Given the description of an element on the screen output the (x, y) to click on. 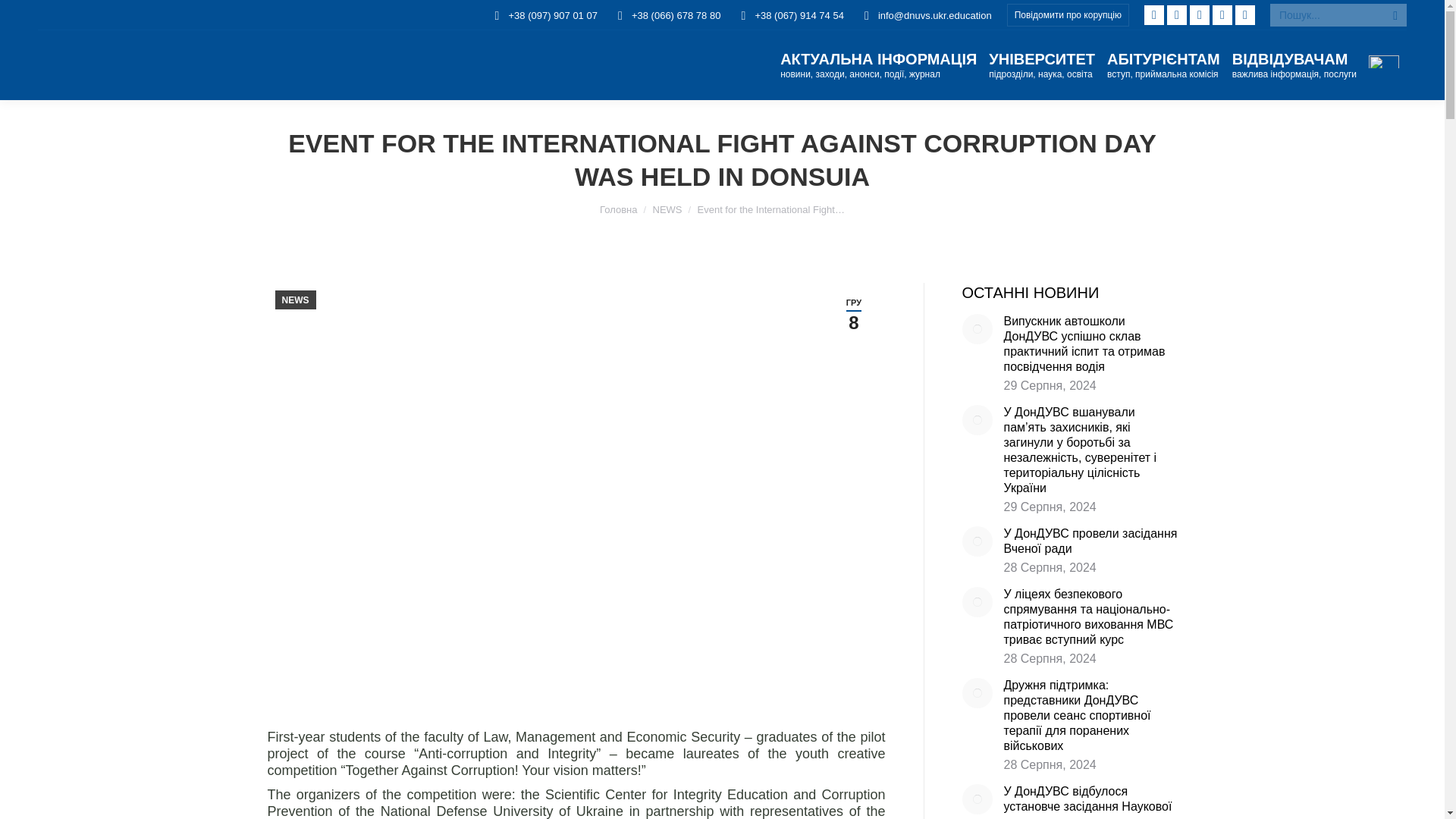
Telegram page opens in new window (1221, 14)
Go! (34, 17)
Instagram page opens in new window (1199, 14)
Linkedin page opens in new window (1176, 14)
YouTube page opens in new window (1244, 14)
Linkedin page opens in new window (1176, 14)
NEWS (666, 209)
Instagram page opens in new window (1199, 14)
YouTube page opens in new window (1244, 14)
7:19 pm (853, 314)
